Given the description of an element on the screen output the (x, y) to click on. 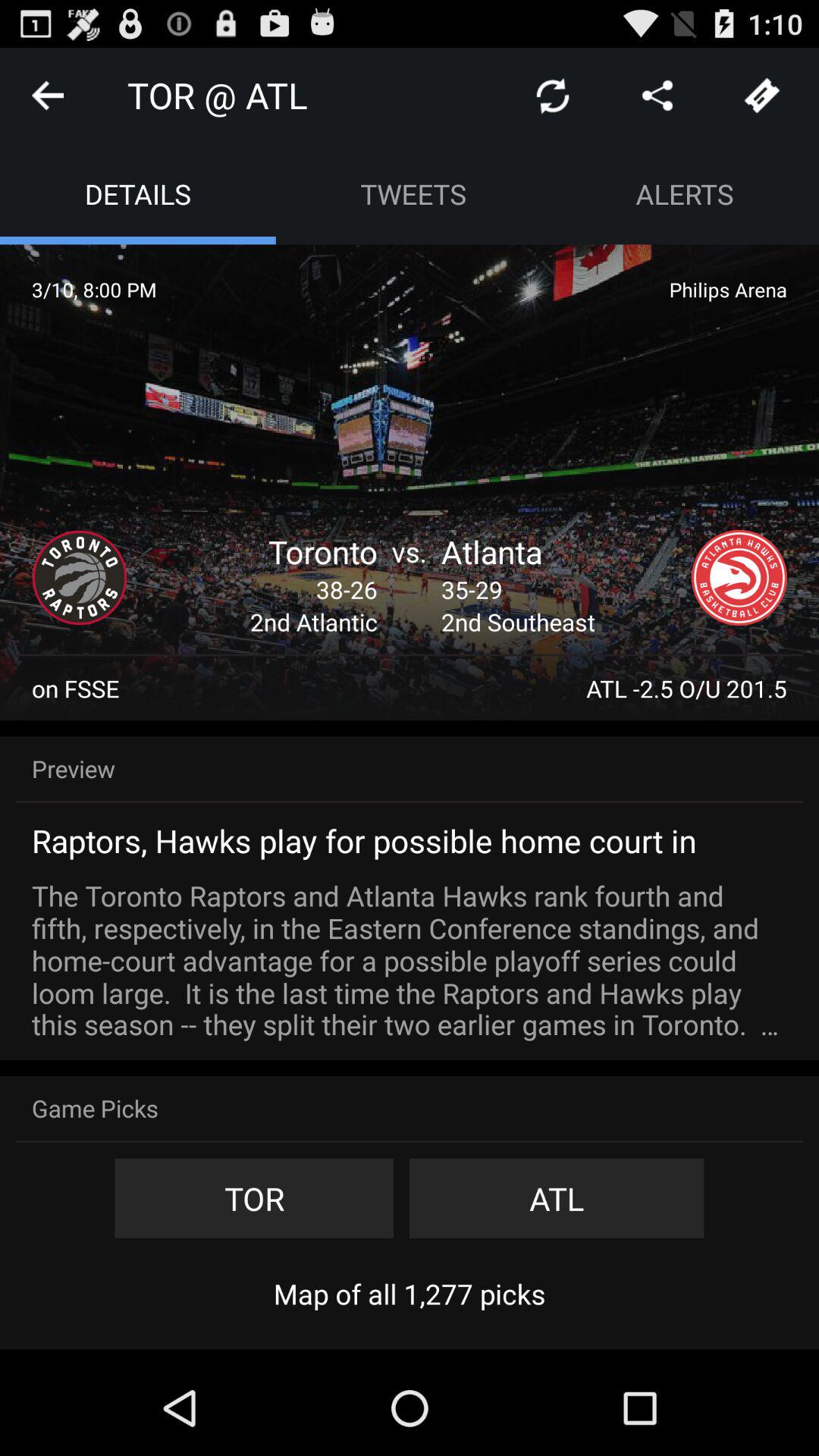
open app to the right of tor @ atl (552, 95)
